Given the description of an element on the screen output the (x, y) to click on. 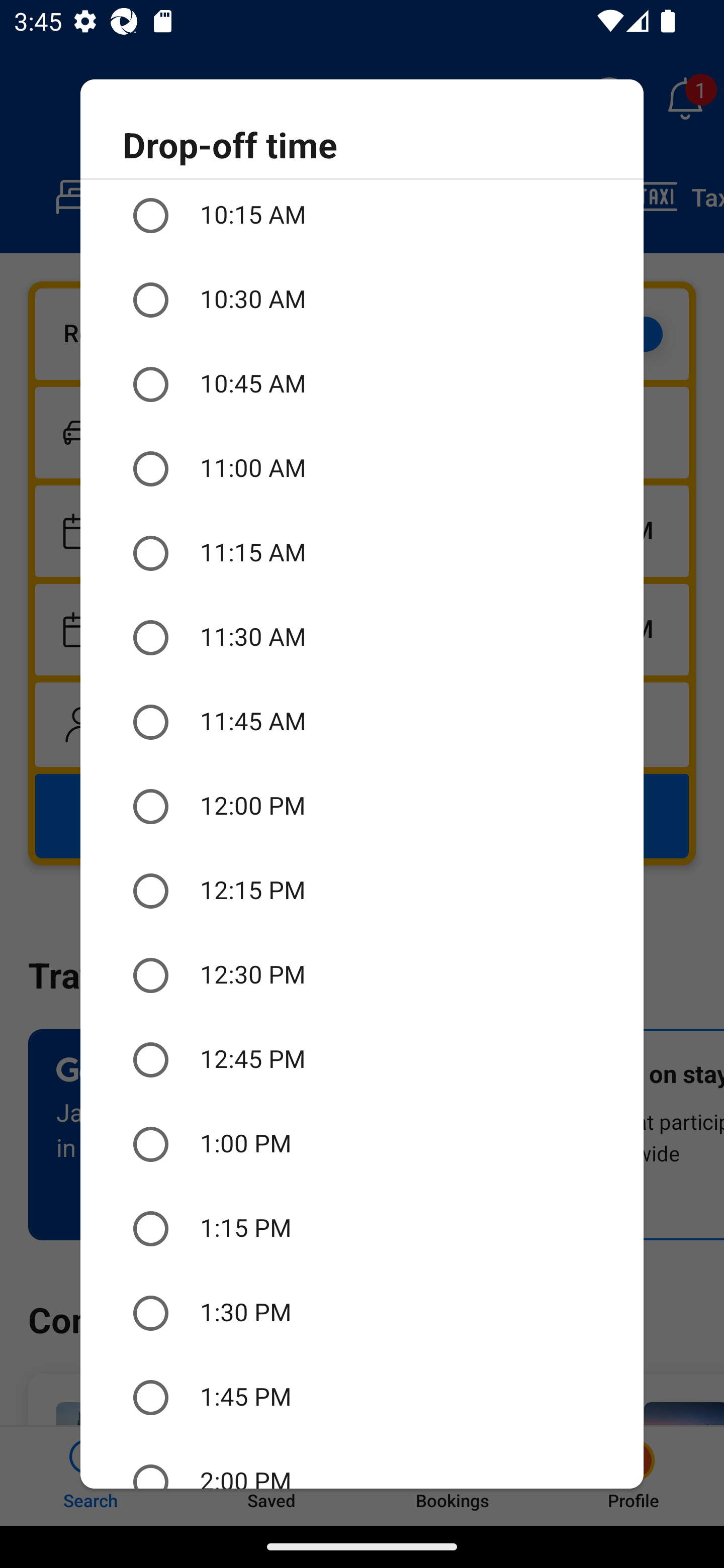
10:15 AM (361, 218)
10:30 AM (361, 299)
10:45 AM (361, 383)
11:00 AM (361, 468)
11:15 AM (361, 553)
11:30 AM (361, 637)
11:45 AM (361, 722)
12:00 PM (361, 806)
12:15 PM (361, 890)
12:30 PM (361, 974)
12:45 PM (361, 1059)
1:00 PM (361, 1144)
1:15 PM (361, 1228)
1:30 PM (361, 1312)
1:45 PM (361, 1396)
